Given the description of an element on the screen output the (x, y) to click on. 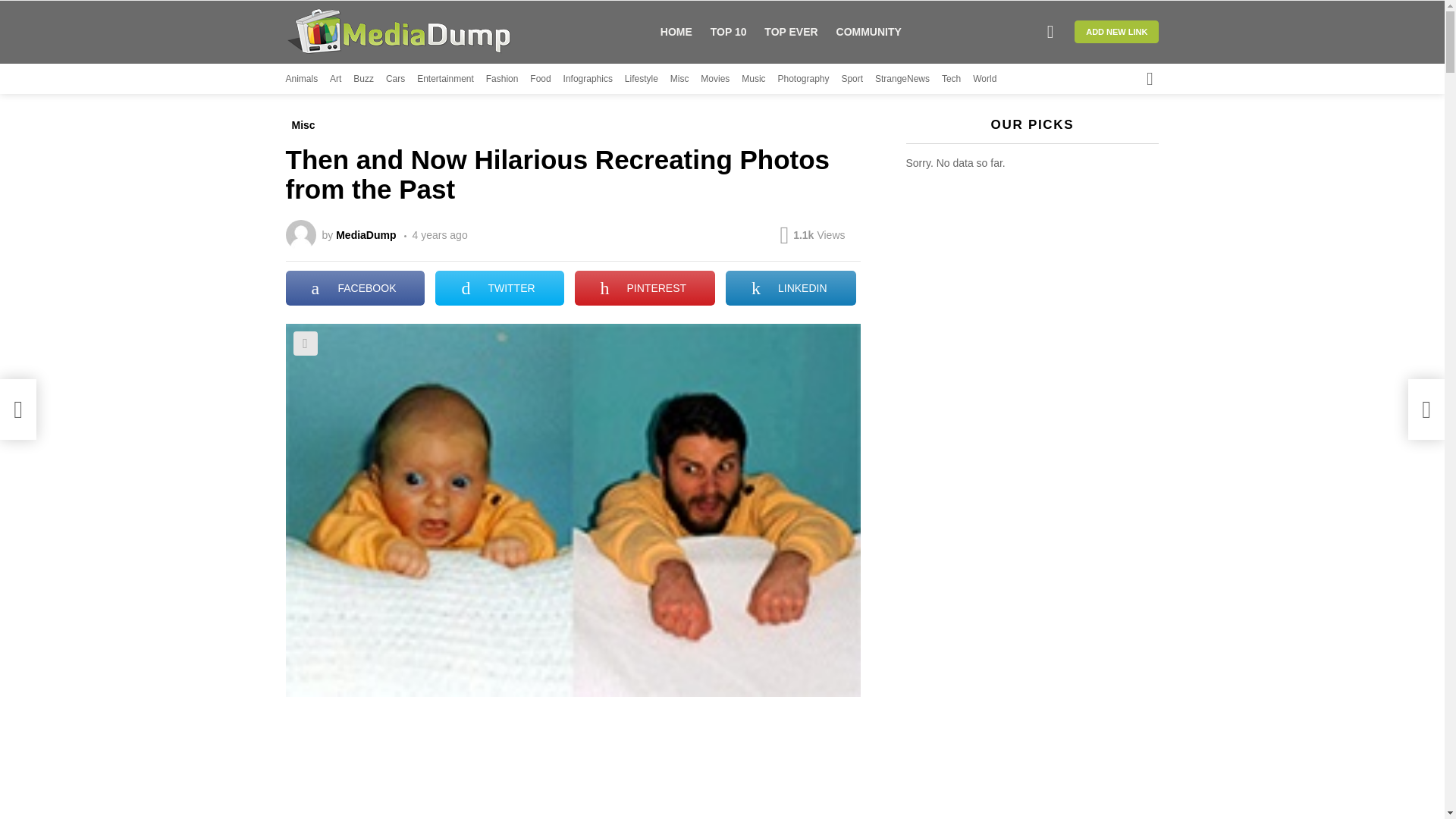
Entertainment (445, 78)
Share (304, 343)
Photography (802, 78)
LOGIN (1050, 31)
April 9, 2020, 12:55 am (435, 234)
FACEBOOK (355, 288)
Cars (394, 78)
Misc (302, 125)
TOP 10 (728, 31)
